Given the description of an element on the screen output the (x, y) to click on. 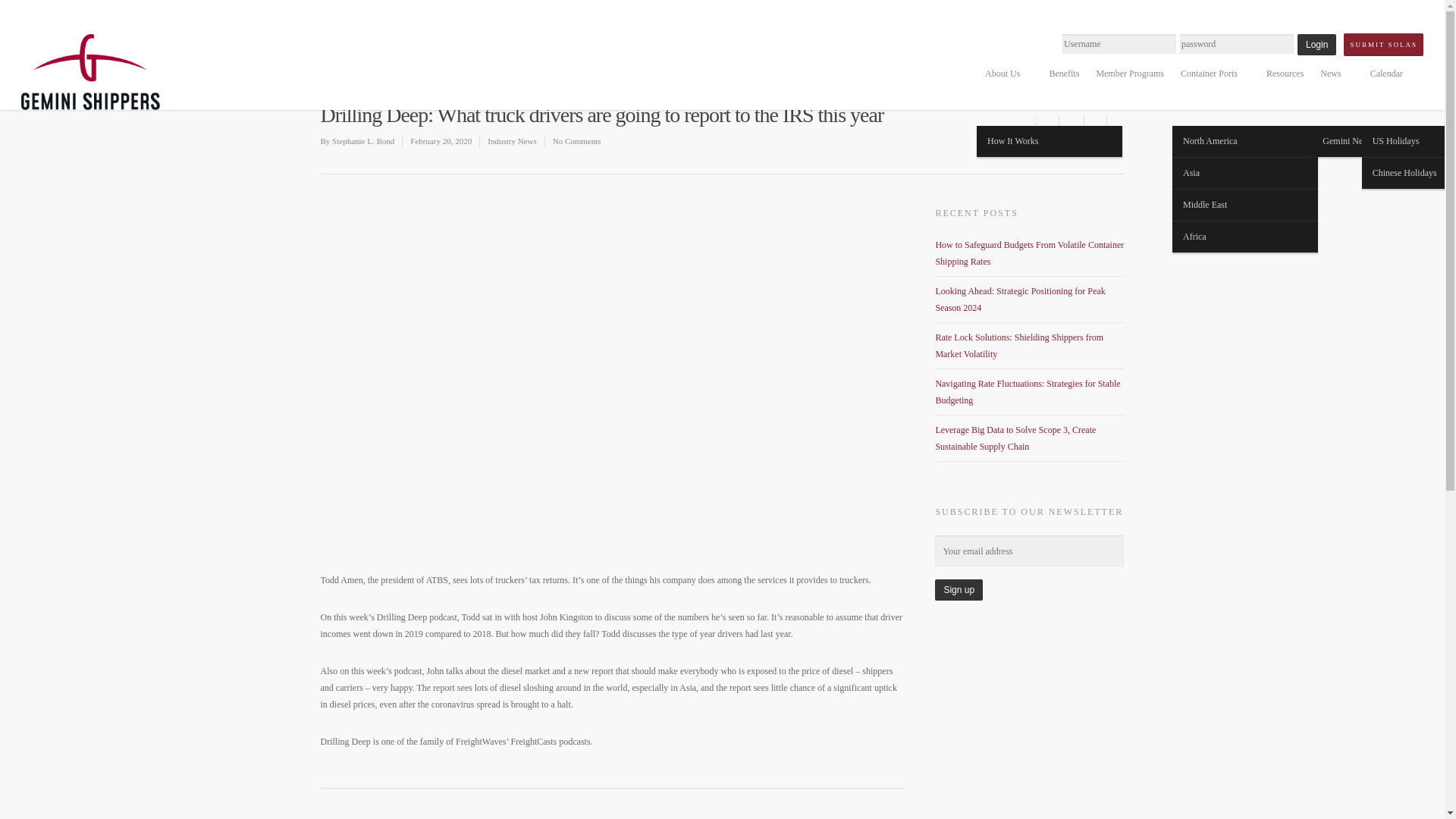
Asia (1244, 173)
SUBMIT SOLAS (1383, 44)
Love this (1045, 118)
How It Works (1049, 141)
Pin this (1115, 120)
Africa (1244, 236)
Login (1316, 44)
Benefits (1063, 73)
Container Ports (1215, 73)
Resources (1285, 73)
